Given the description of an element on the screen output the (x, y) to click on. 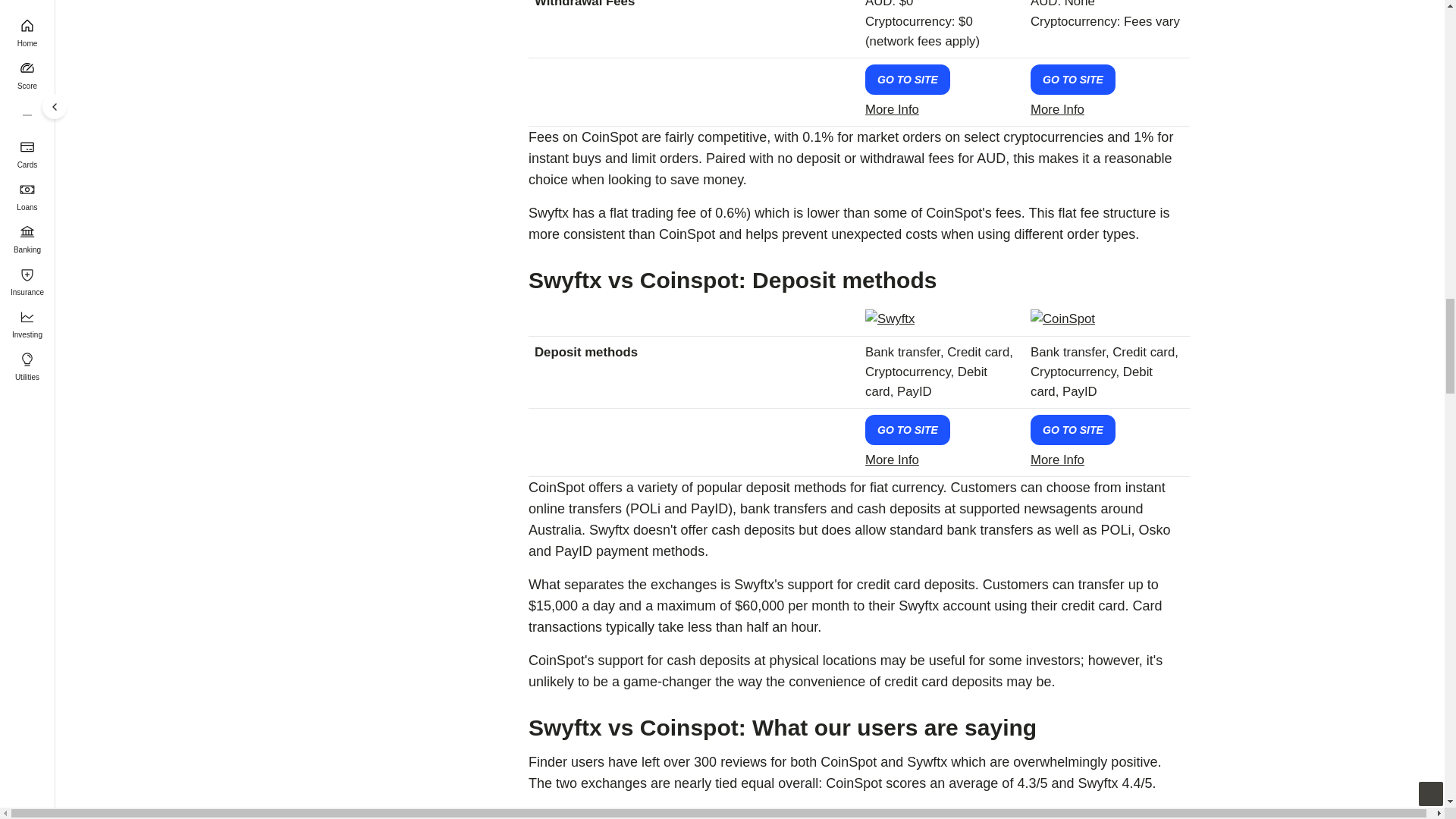
Apply Now For The CoinSpot (1072, 79)
Apply Now For The Swyftx (907, 79)
Read More About The Swyftx (891, 109)
